Given the description of an element on the screen output the (x, y) to click on. 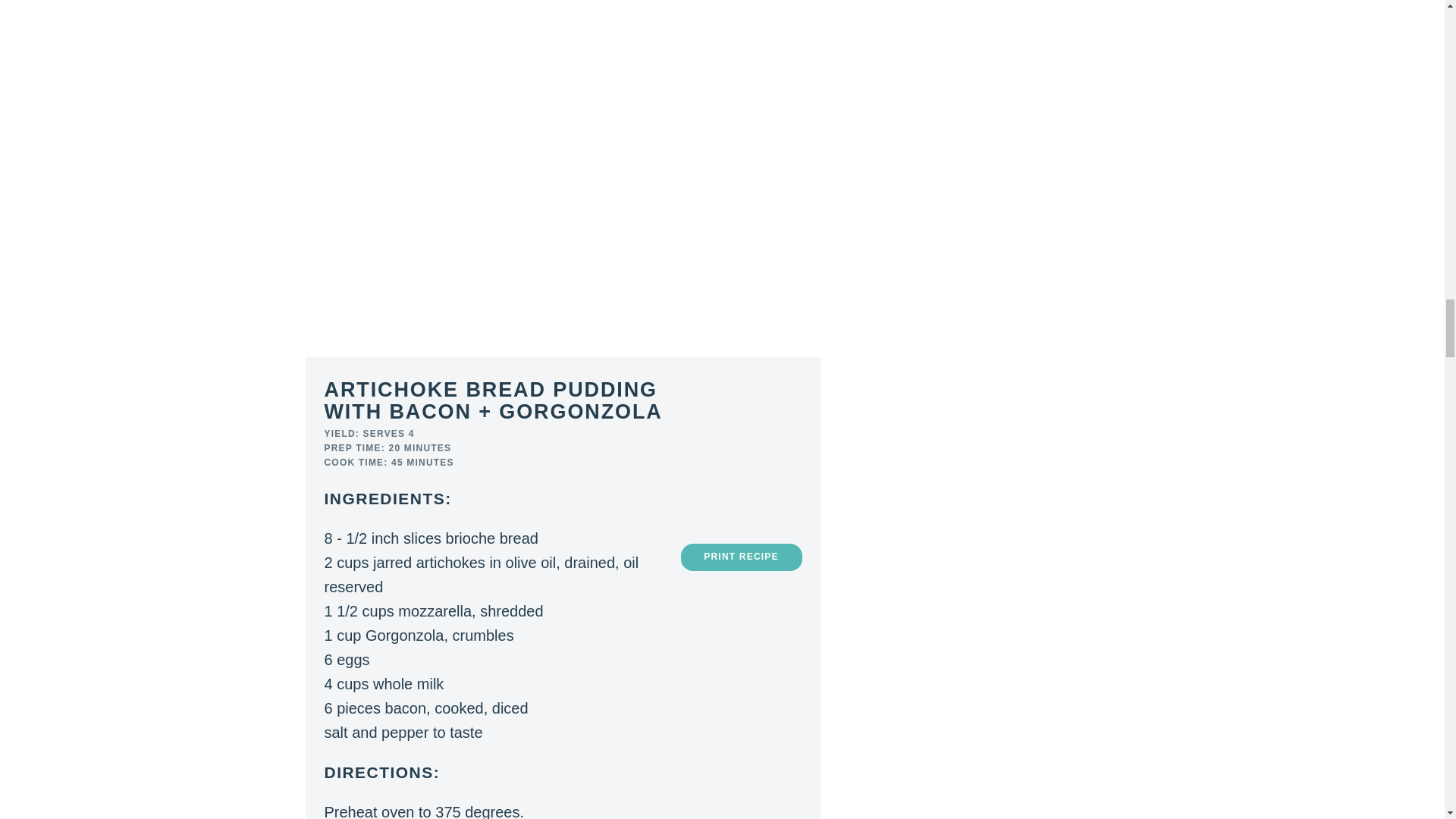
Print Recipe (741, 556)
